Given the description of an element on the screen output the (x, y) to click on. 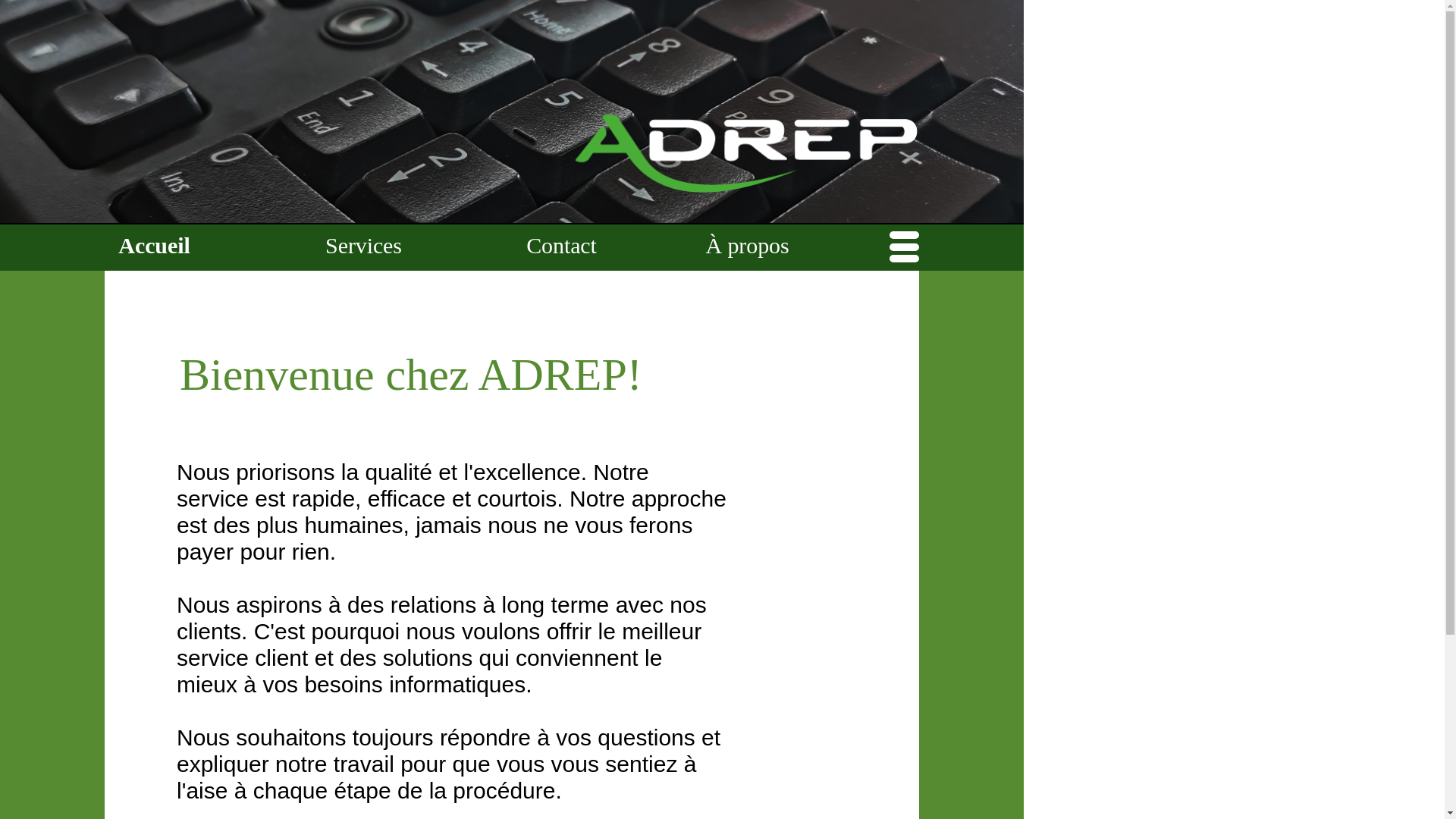
Contact Element type: text (560, 246)
Services Element type: text (363, 246)
